Given the description of an element on the screen output the (x, y) to click on. 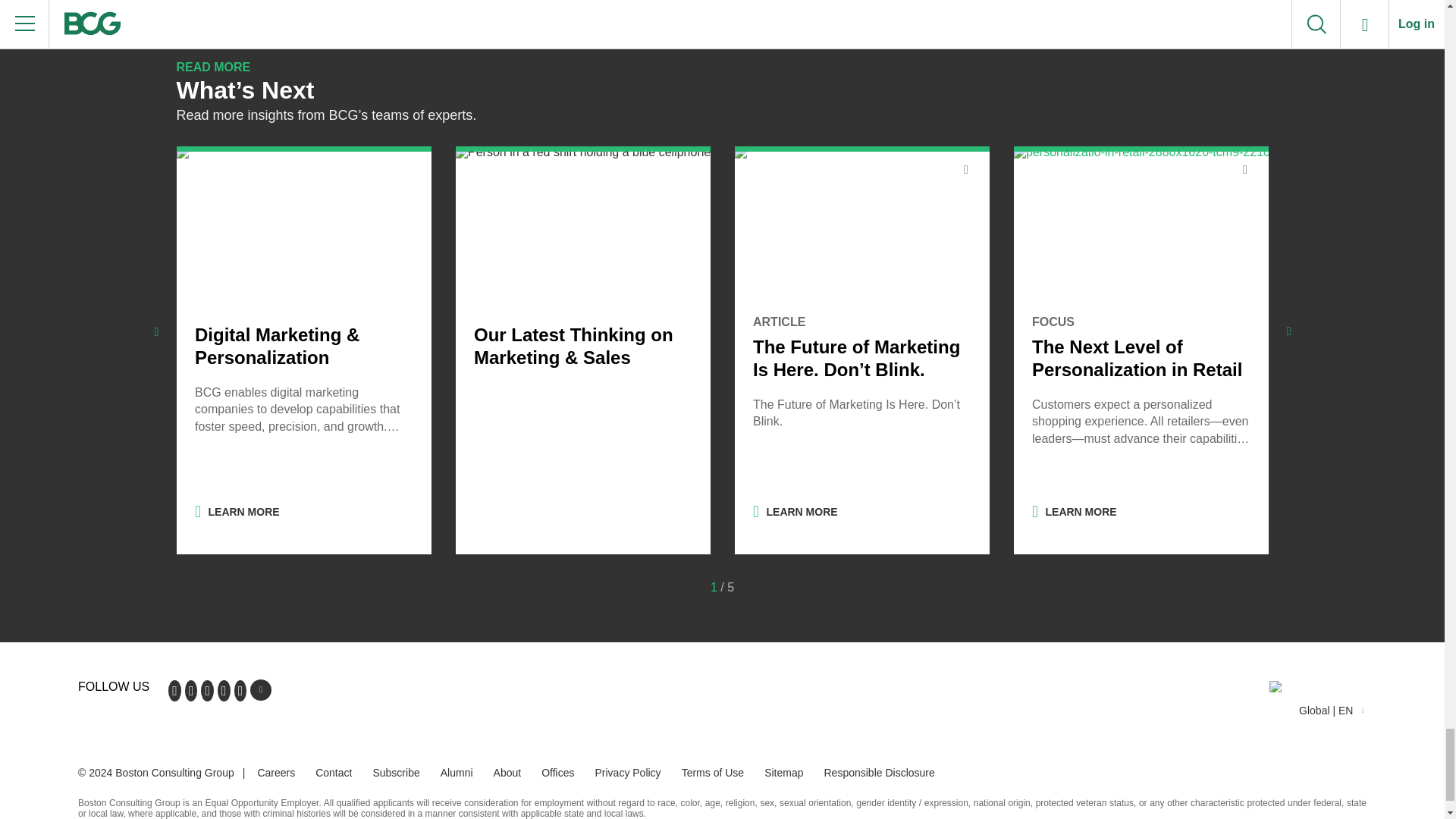
Save Content (1244, 169)
Save Content (964, 169)
